Given the description of an element on the screen output the (x, y) to click on. 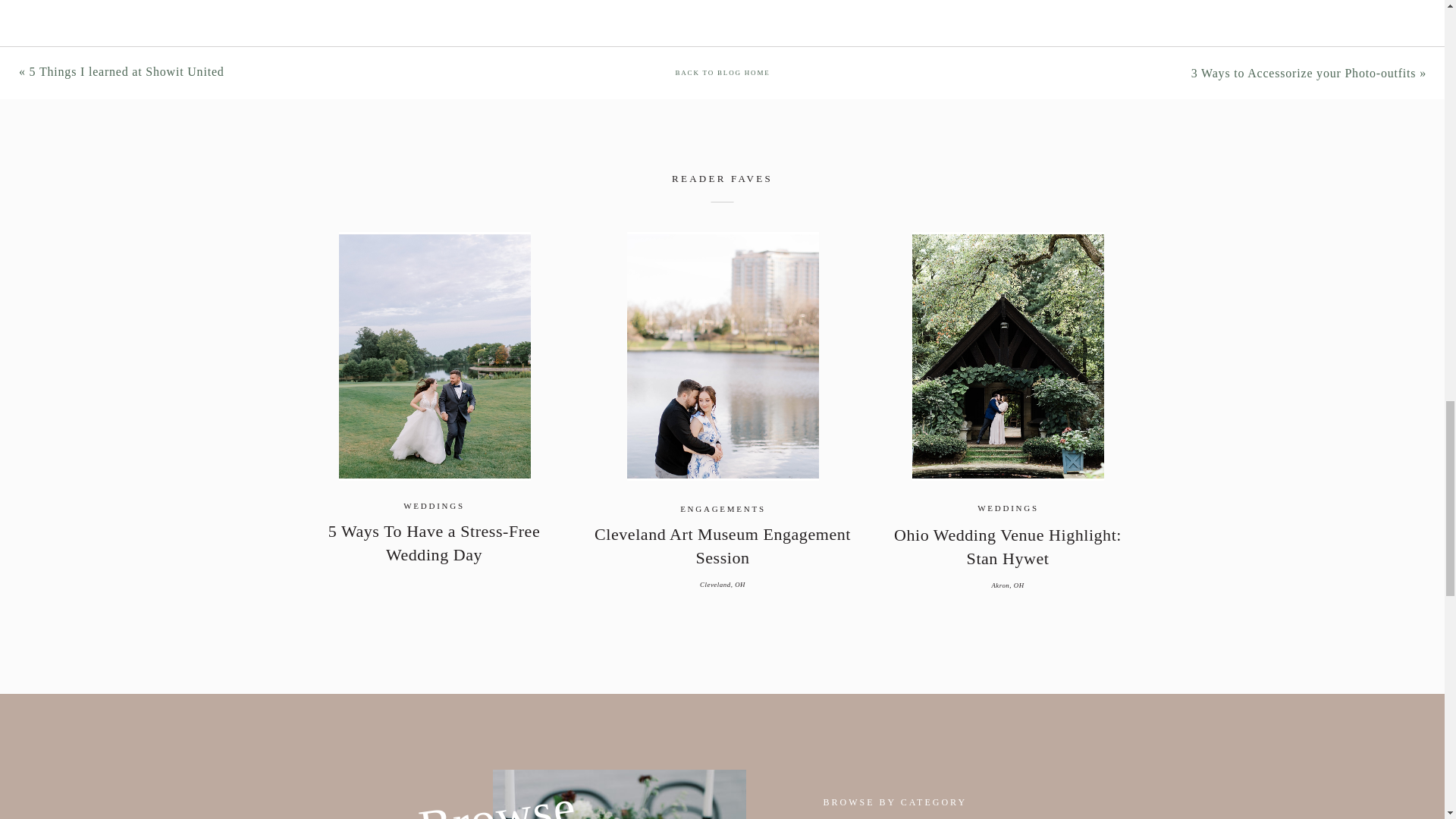
5 Things I learned at Showit United (126, 71)
3 Ways to Accessorize your Photo-outfits (1303, 72)
WEDDINGS (433, 505)
BACK TO BLOG HOME (722, 73)
